Given the description of an element on the screen output the (x, y) to click on. 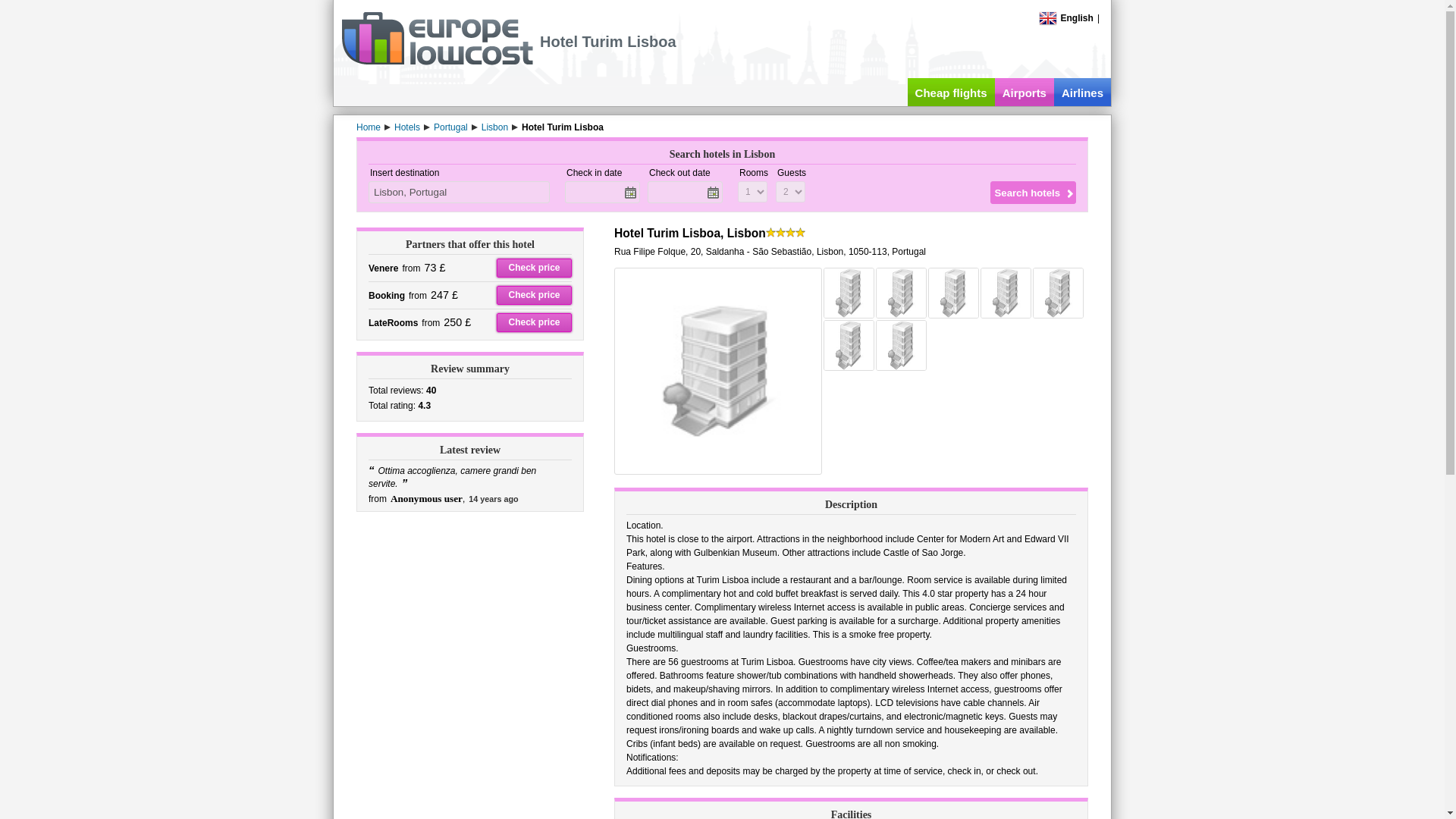
Check price (534, 294)
Airports (1024, 91)
Cheap flights (950, 91)
Hotels (407, 127)
Home (368, 127)
Airlines (1082, 91)
Search hotels (1033, 191)
Lisbon, Portugal (459, 191)
Search hotels (1033, 191)
Portugal (450, 127)
